Given the description of an element on the screen output the (x, y) to click on. 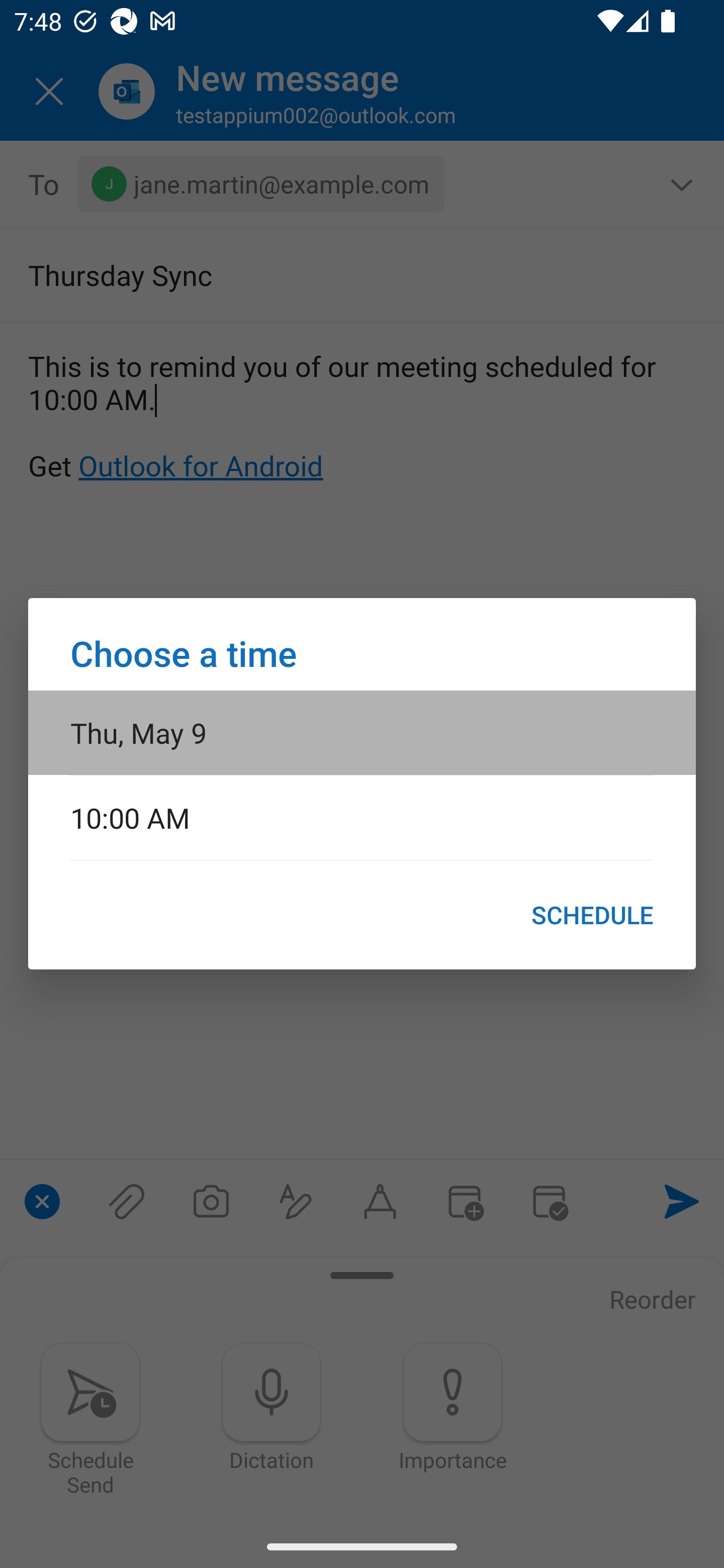
Thu, May 9 Choose date Thu, May 9 (361, 731)
10:00 AM Choose time 10:00 AM (361, 817)
SCHEDULE (592, 914)
